Given the description of an element on the screen output the (x, y) to click on. 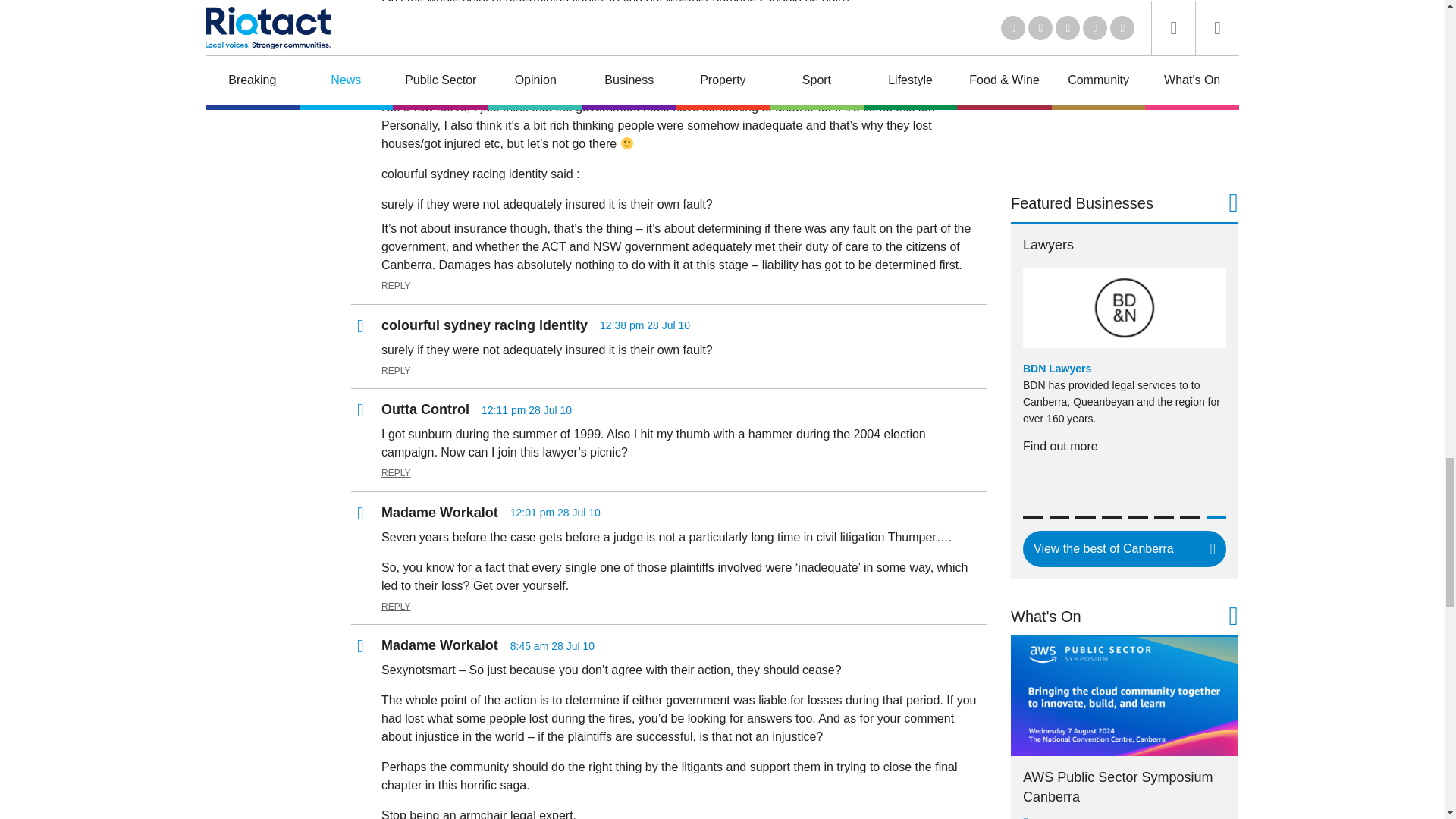
3rd party ad content (1124, 83)
